Given the description of an element on the screen output the (x, y) to click on. 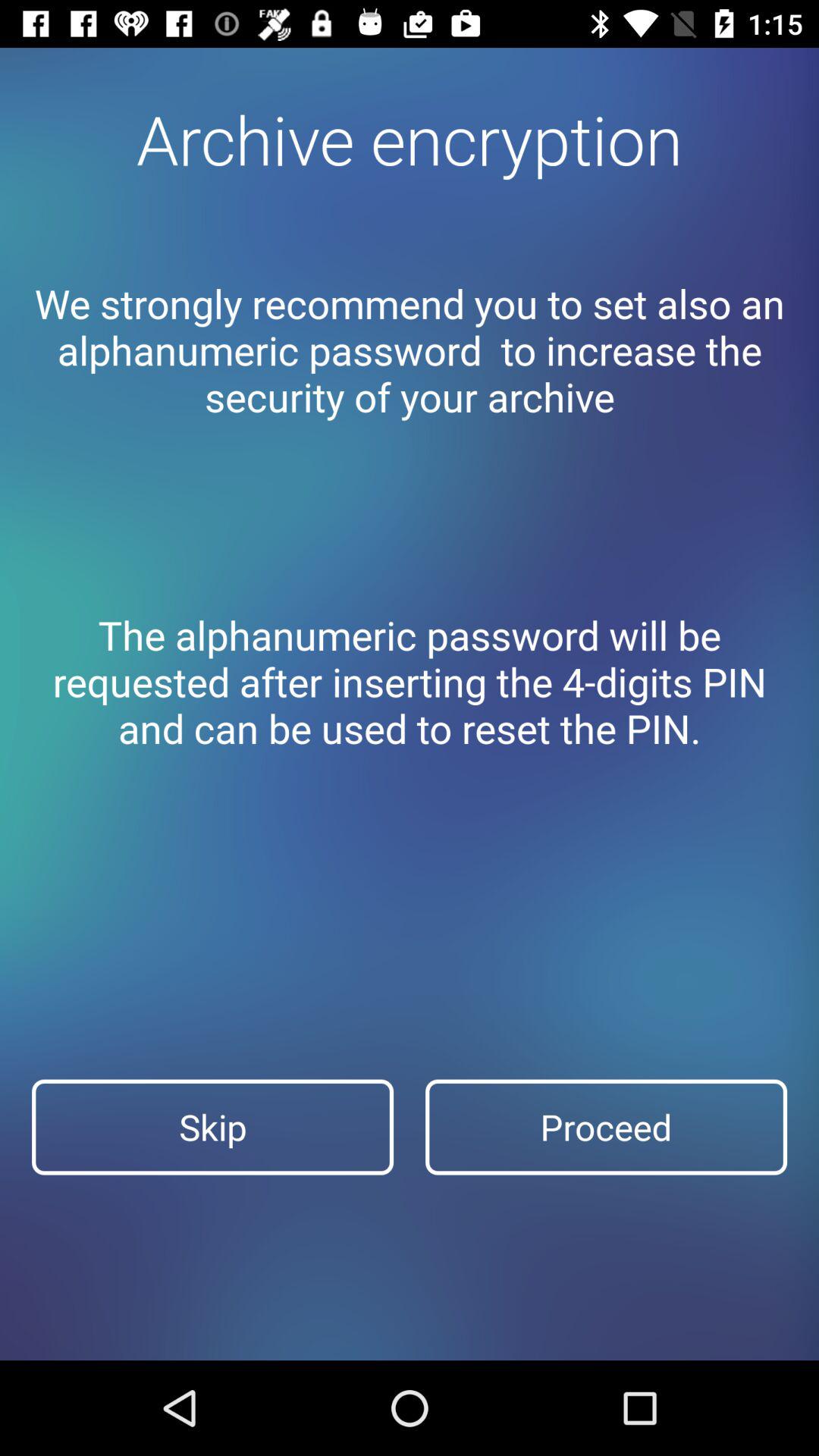
click proceed (606, 1127)
